Given the description of an element on the screen output the (x, y) to click on. 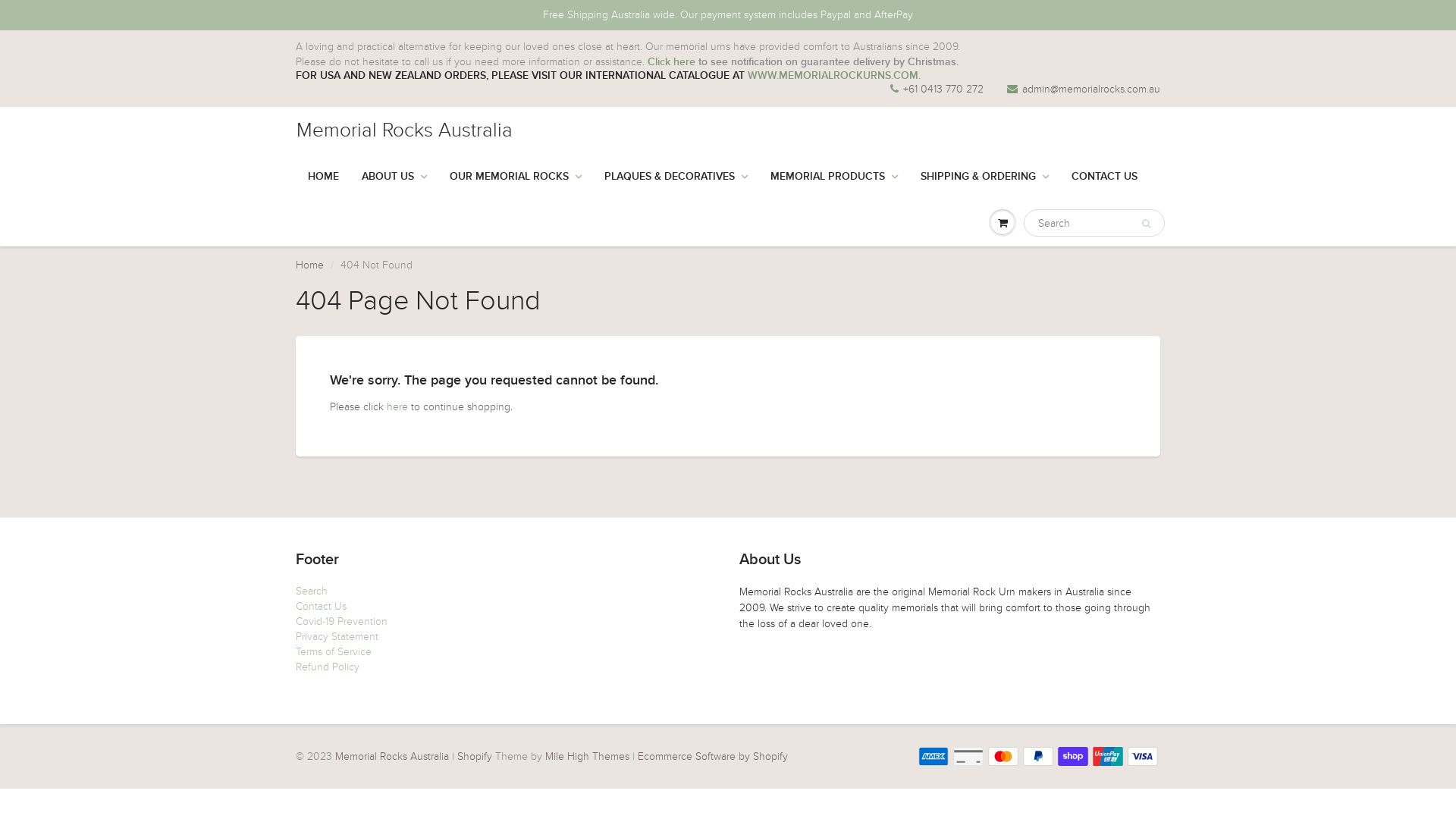
+61 0413 770 272 Element type: text (936, 89)
CONTACT US Element type: text (1104, 176)
PLAQUES & DECORATIVES Element type: text (676, 176)
Shopify Element type: text (474, 755)
Home Element type: text (309, 264)
Contact Us Element type: text (320, 605)
here Element type: text (396, 406)
Search Element type: text (1146, 223)
OUR MEMORIAL ROCKS Element type: text (515, 176)
MEMORIAL PRODUCTS Element type: text (834, 176)
Mile High Themes Element type: text (587, 755)
Covid-19 Prevention Element type: text (341, 621)
Terms of Service Element type: text (333, 651)
Ecommerce Software by Shopify Element type: text (712, 755)
Memorial Rocks Australia Element type: text (411, 130)
Refund Policy Element type: text (327, 666)
Privacy Statement Element type: text (336, 636)
admin@memorialrocks.com.au Element type: text (1083, 89)
SHIPPING & ORDERING Element type: text (984, 176)
HOME Element type: text (323, 176)
WWW.MEMORIALROCKURNS.COM. Element type: text (833, 75)
Search Element type: text (311, 590)
ABOUT US Element type: text (394, 176)
Memorial Rocks Australia Element type: text (391, 755)
Click here Element type: text (671, 61)
